Given the description of an element on the screen output the (x, y) to click on. 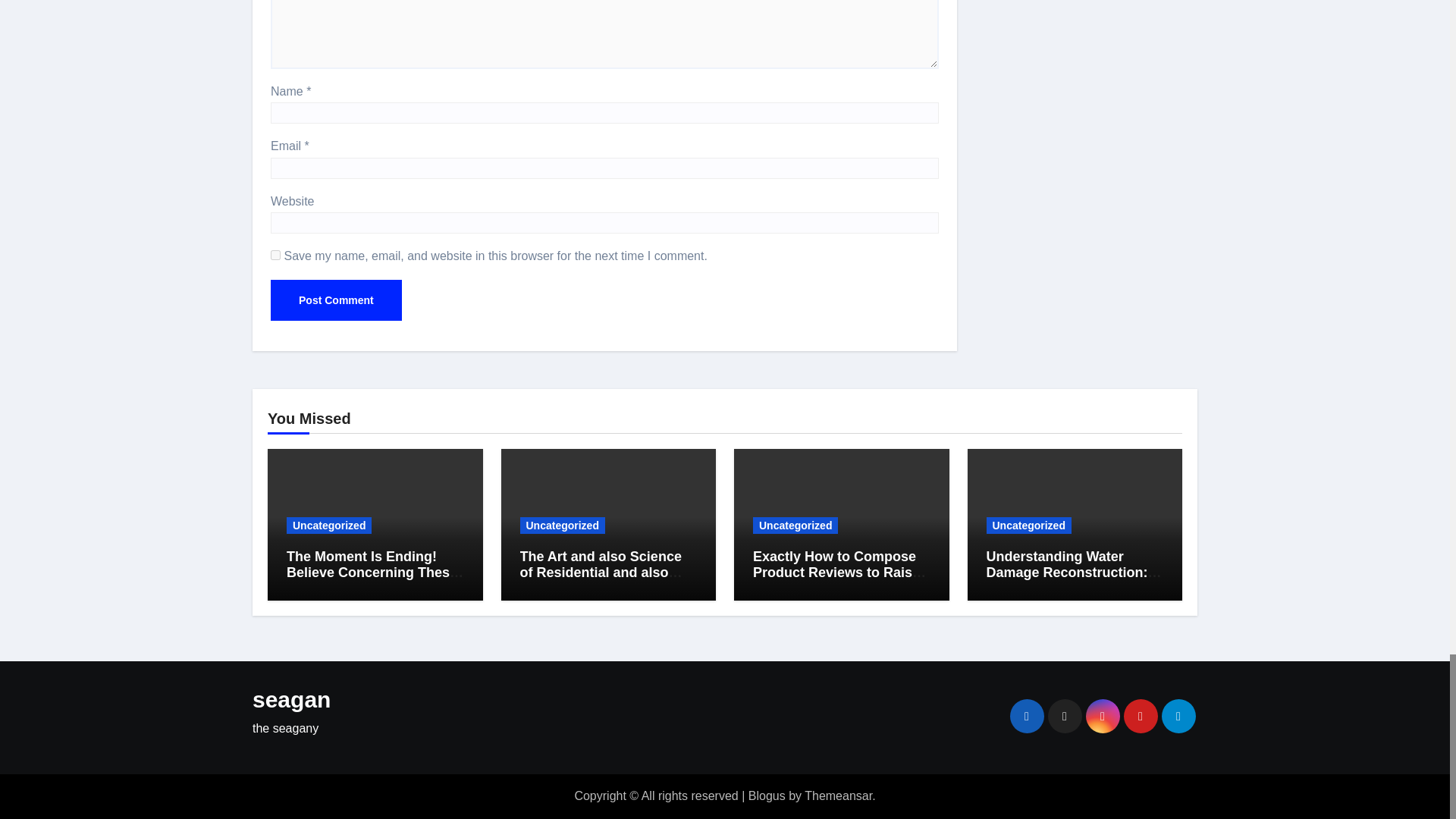
yes (275, 255)
Post Comment (335, 300)
